Given the description of an element on the screen output the (x, y) to click on. 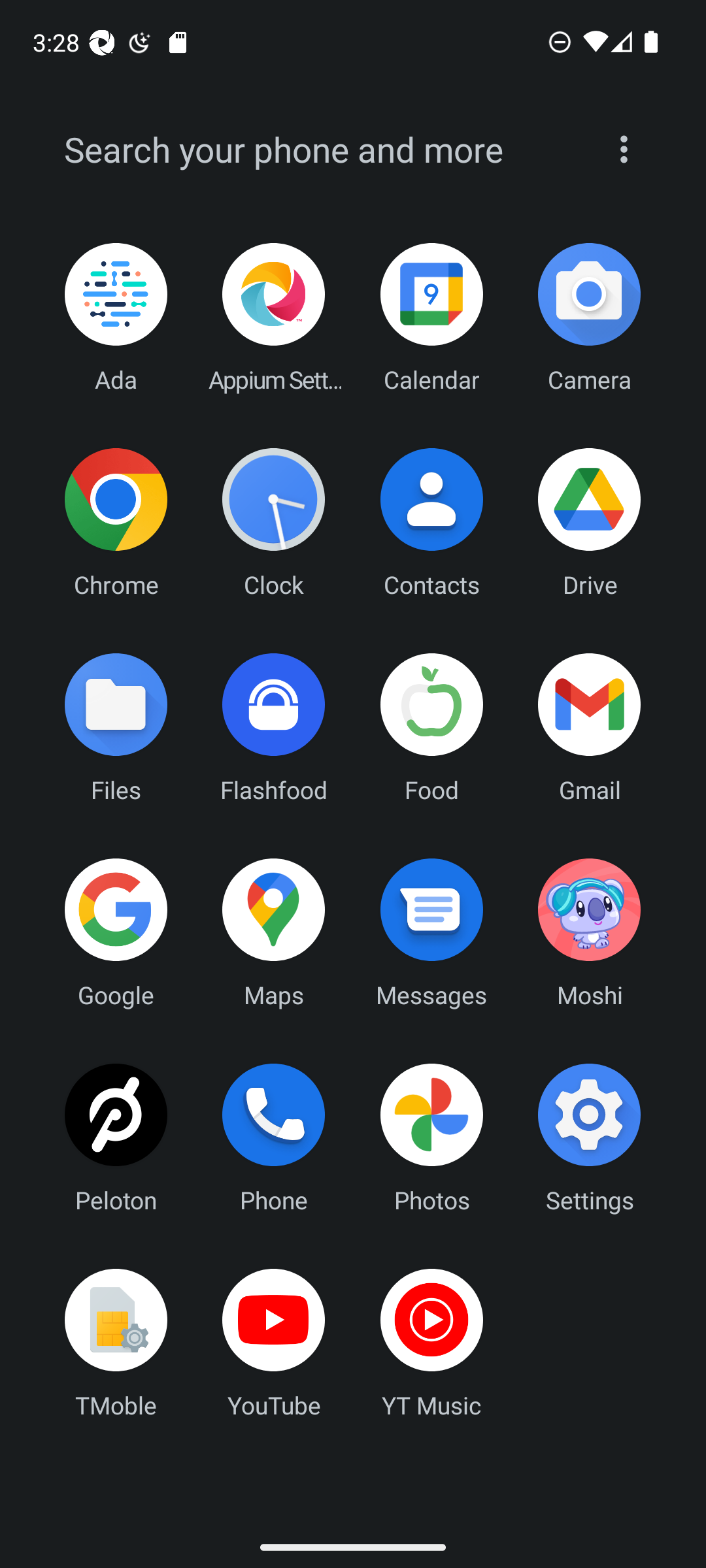
Search your phone and more (321, 149)
Preferences (623, 149)
Ada (115, 317)
Appium Settings (273, 317)
Calendar (431, 317)
Camera (589, 317)
Chrome (115, 522)
Clock (273, 522)
Contacts (431, 522)
Drive (589, 522)
Files (115, 726)
Flashfood (273, 726)
Food (431, 726)
Gmail (589, 726)
Google (115, 931)
Maps (273, 931)
Messages (431, 931)
Moshi (589, 931)
Peloton (115, 1137)
Phone (273, 1137)
Photos (431, 1137)
Settings (589, 1137)
TMoble (115, 1342)
YouTube (273, 1342)
YT Music (431, 1342)
